Given the description of an element on the screen output the (x, y) to click on. 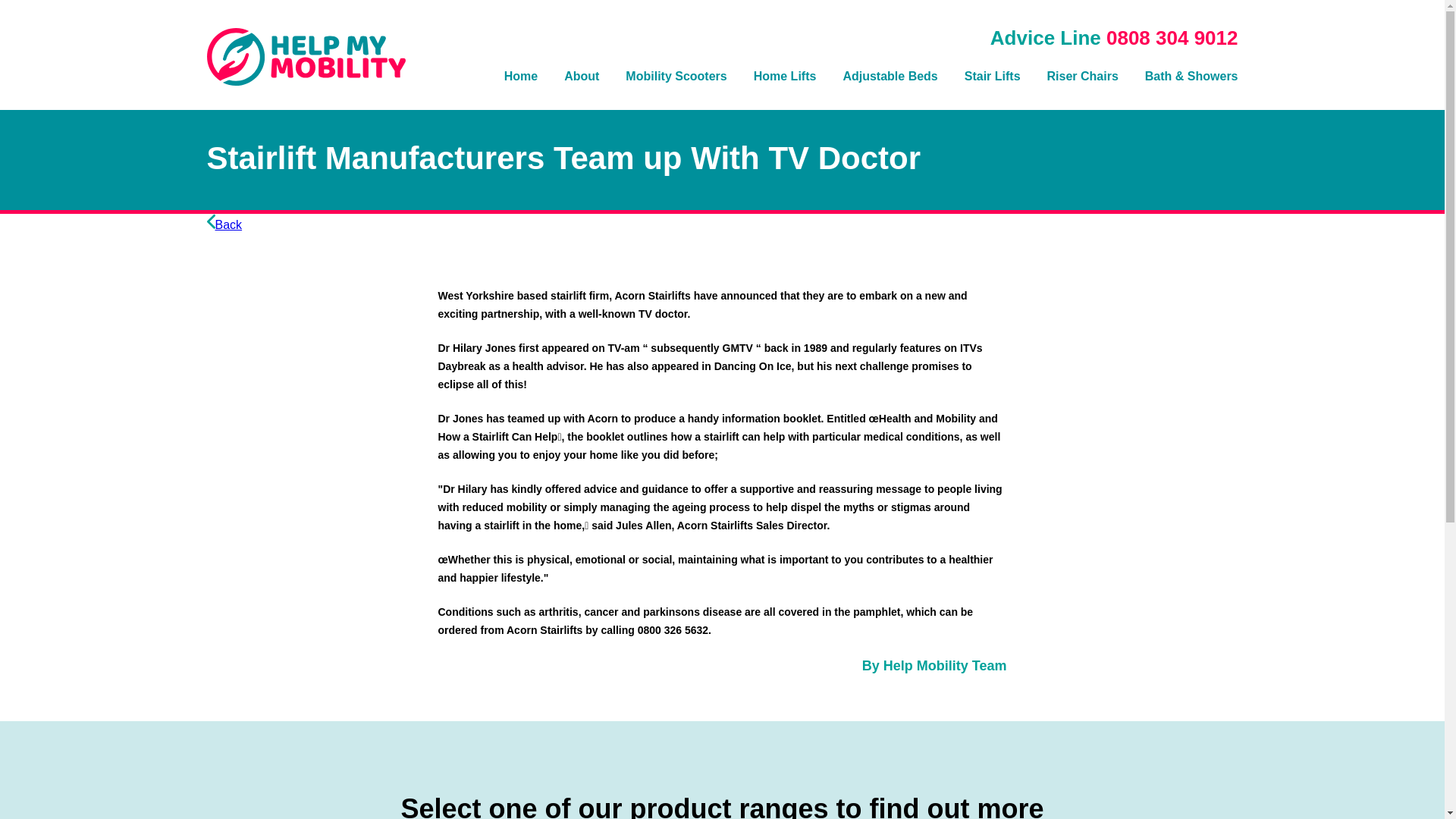
0808 304 9012 (1172, 37)
Riser Chairs (1082, 79)
Adjustable Beds (890, 79)
Home Lifts (785, 79)
Home (520, 79)
About (581, 79)
Mobility Scooters (676, 79)
Stair Lifts (991, 79)
Back (223, 224)
